Given the description of an element on the screen output the (x, y) to click on. 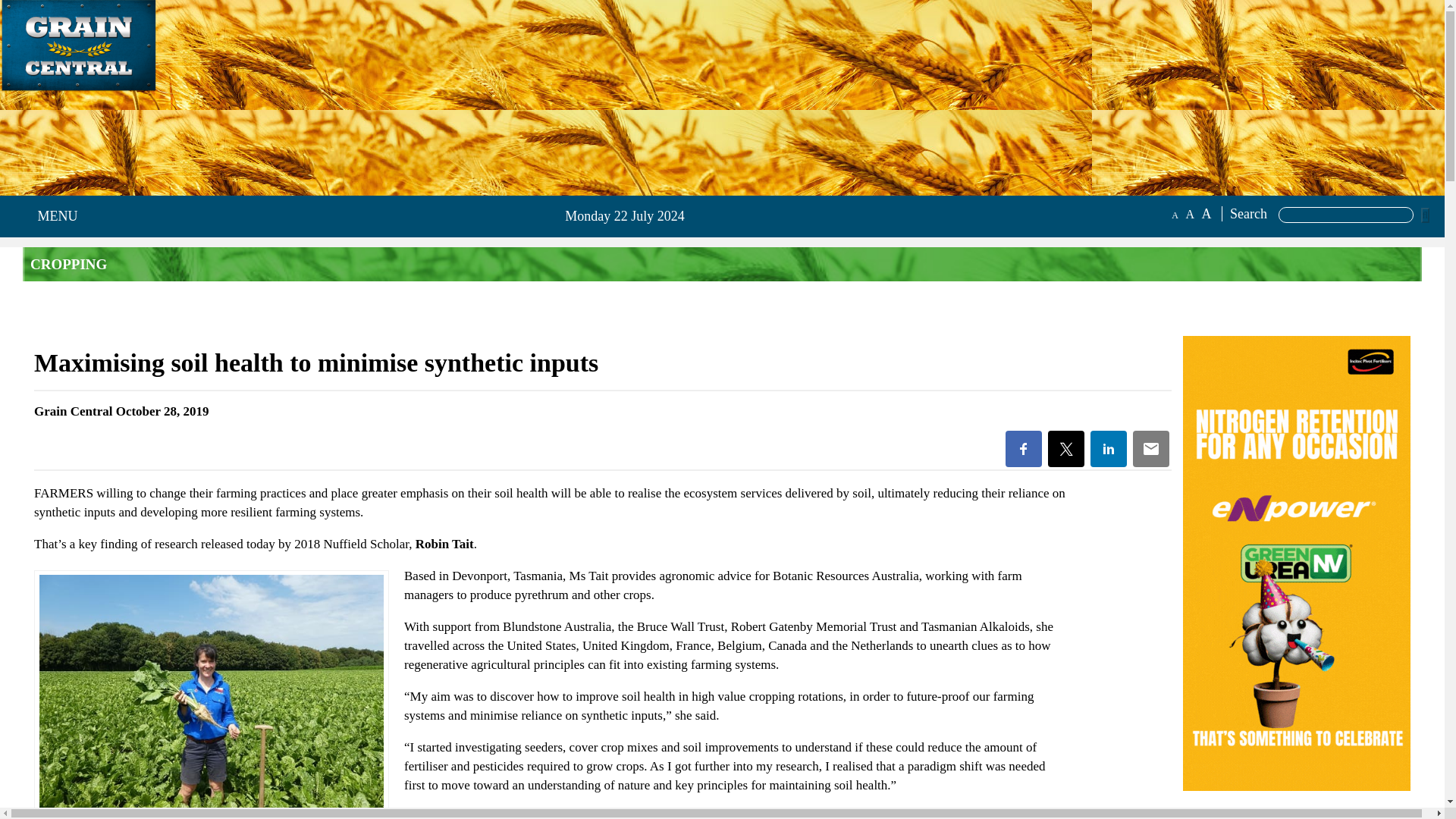
3rd party ad content (189, 146)
3rd party ad content (1296, 812)
MENU (53, 216)
